Given the description of an element on the screen output the (x, y) to click on. 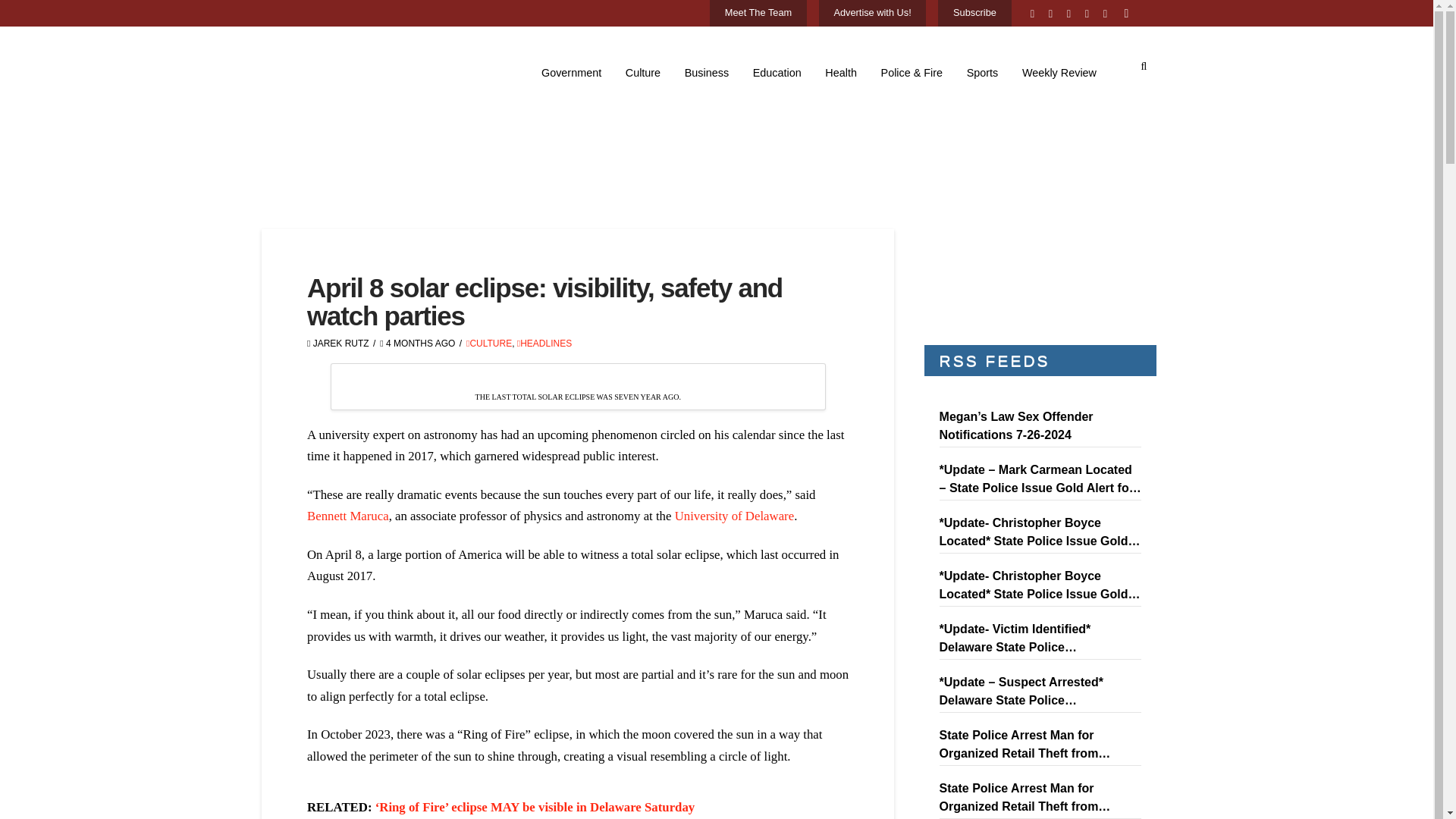
Education (777, 72)
Weekly Review (1059, 72)
Business (706, 72)
Advertise with Us! (872, 14)
Bennett Maruca (347, 515)
HEADLINES (544, 343)
Subscribe (973, 14)
Meet The Team (758, 14)
CULTURE (488, 343)
Health (841, 72)
University of Delaware (734, 515)
Sports (982, 72)
Government (570, 72)
Culture (642, 72)
